Given the description of an element on the screen output the (x, y) to click on. 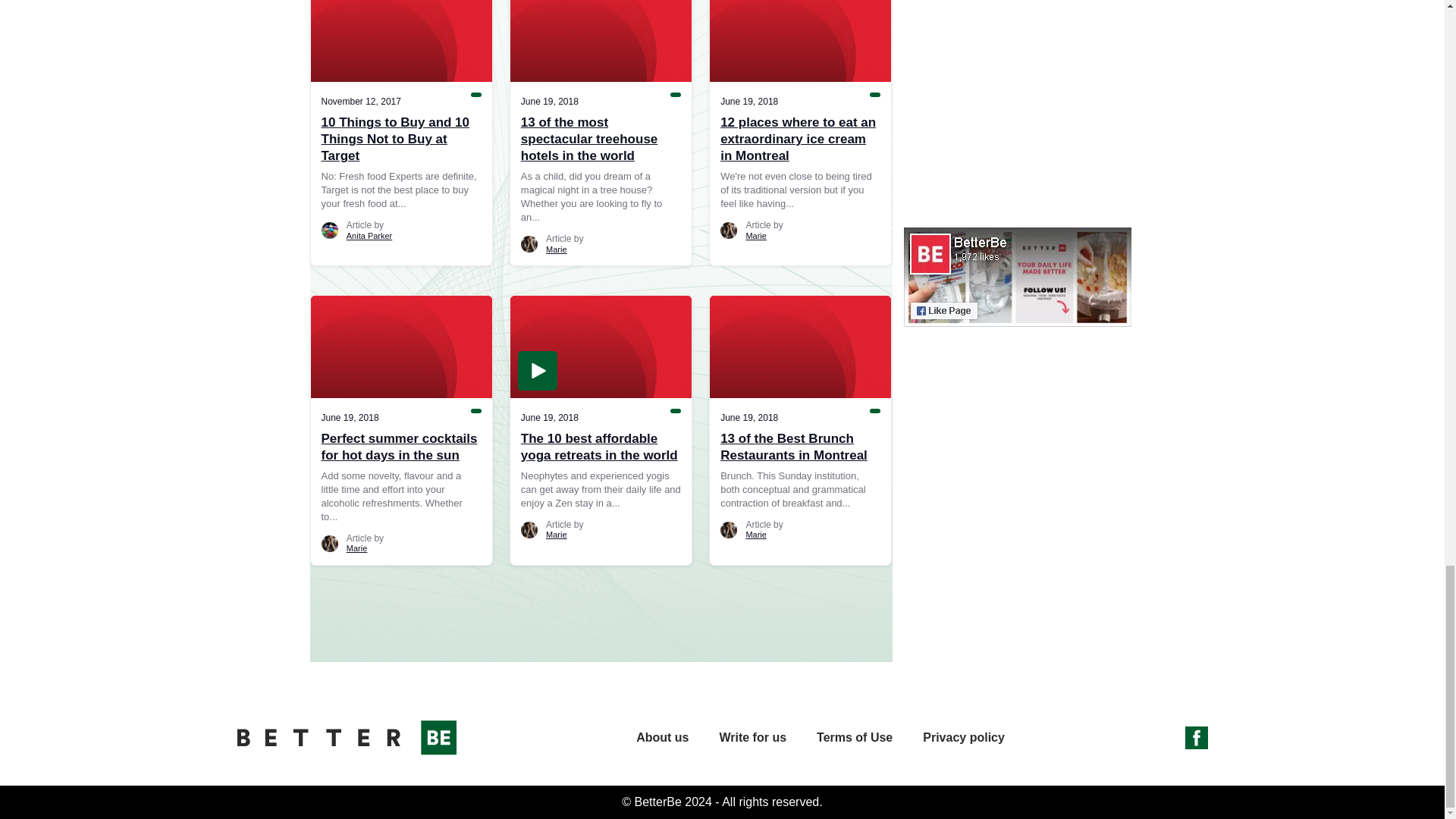
Marie (357, 547)
Anita Parker (369, 235)
The 10 best affordable yoga retreats in the world (601, 447)
10 Things to Buy and 10 Things Not to Buy at Target (401, 139)
Perfect summer cocktails for hot days in the sun (401, 447)
Marie (556, 248)
13 of the most spectacular treehouse hotels in the world (601, 139)
Marie (756, 235)
